Given the description of an element on the screen output the (x, y) to click on. 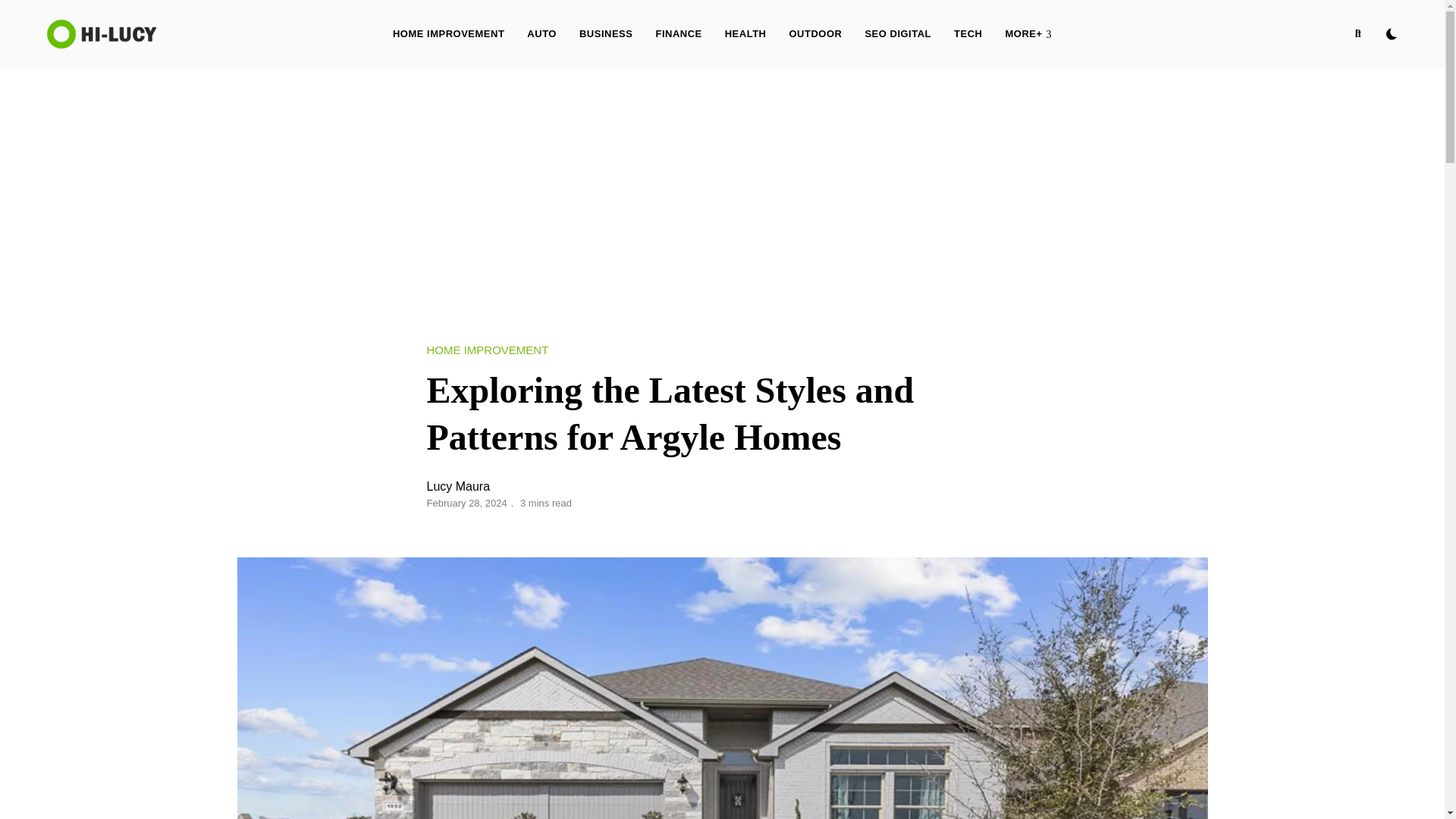
FINANCE (678, 33)
HOME IMPROVEMENT (448, 33)
HEALTH (745, 33)
SEO DIGITAL (897, 33)
Lucy Maura (457, 486)
HOME IMPROVEMENT (487, 350)
OUTDOOR (815, 33)
BUSINESS (605, 33)
